Given the description of an element on the screen output the (x, y) to click on. 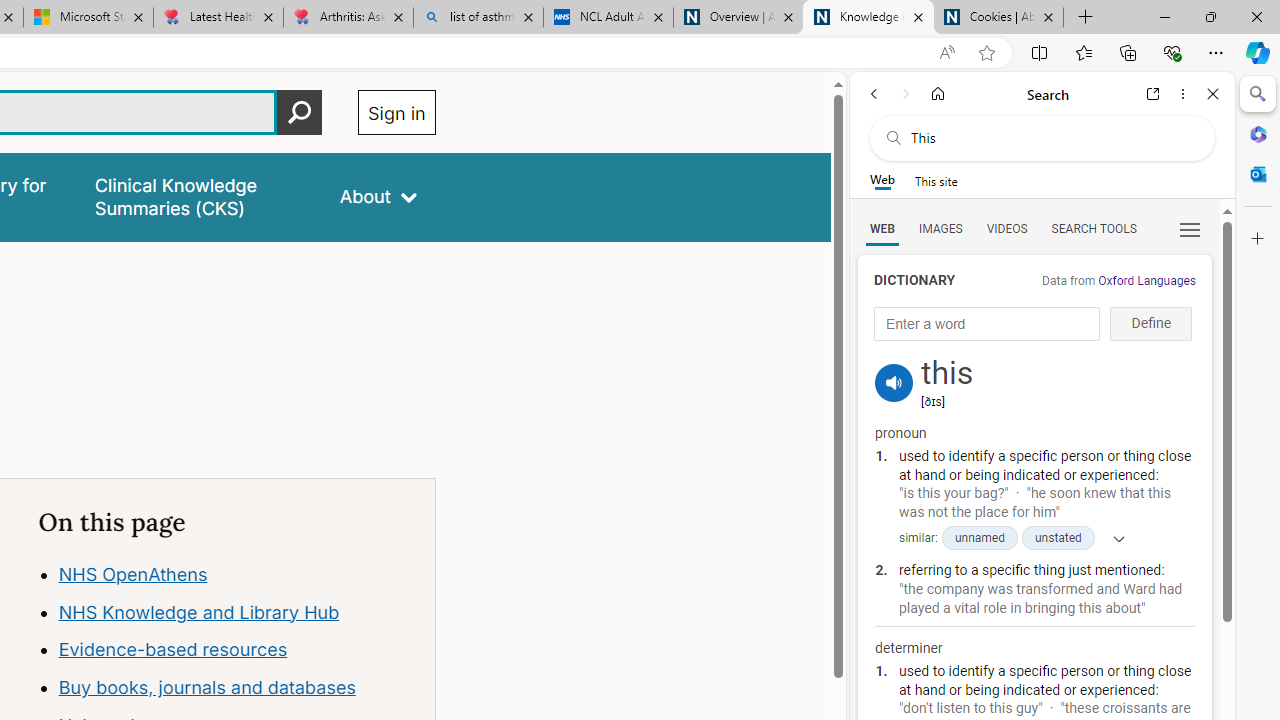
Evidence-based resources (172, 649)
SEARCH TOOLS (1093, 228)
Cookies | About | NICE (998, 17)
Buy books, journals and databases (237, 688)
Search Filter, Search Tools (1093, 228)
NHS OpenAthens (237, 574)
